Given the description of an element on the screen output the (x, y) to click on. 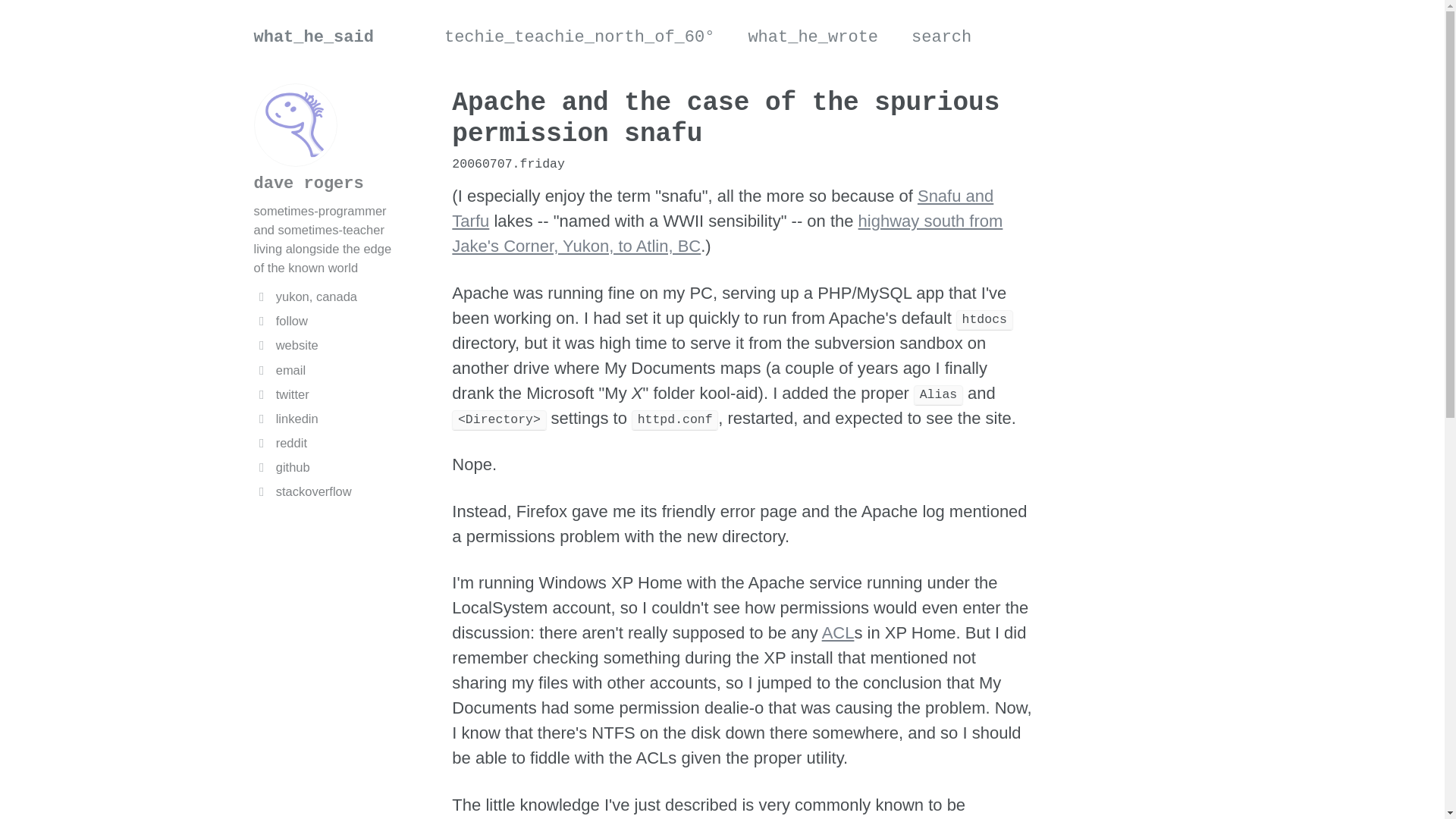
linkedin (324, 418)
highway south from Jake's Corner, Yukon, to Atlin, BC (727, 233)
Snafu and Tarfu (721, 208)
github (324, 467)
search (941, 37)
stackoverflow (324, 491)
reddit (324, 443)
ACL (838, 632)
twitter (324, 394)
